Given the description of an element on the screen output the (x, y) to click on. 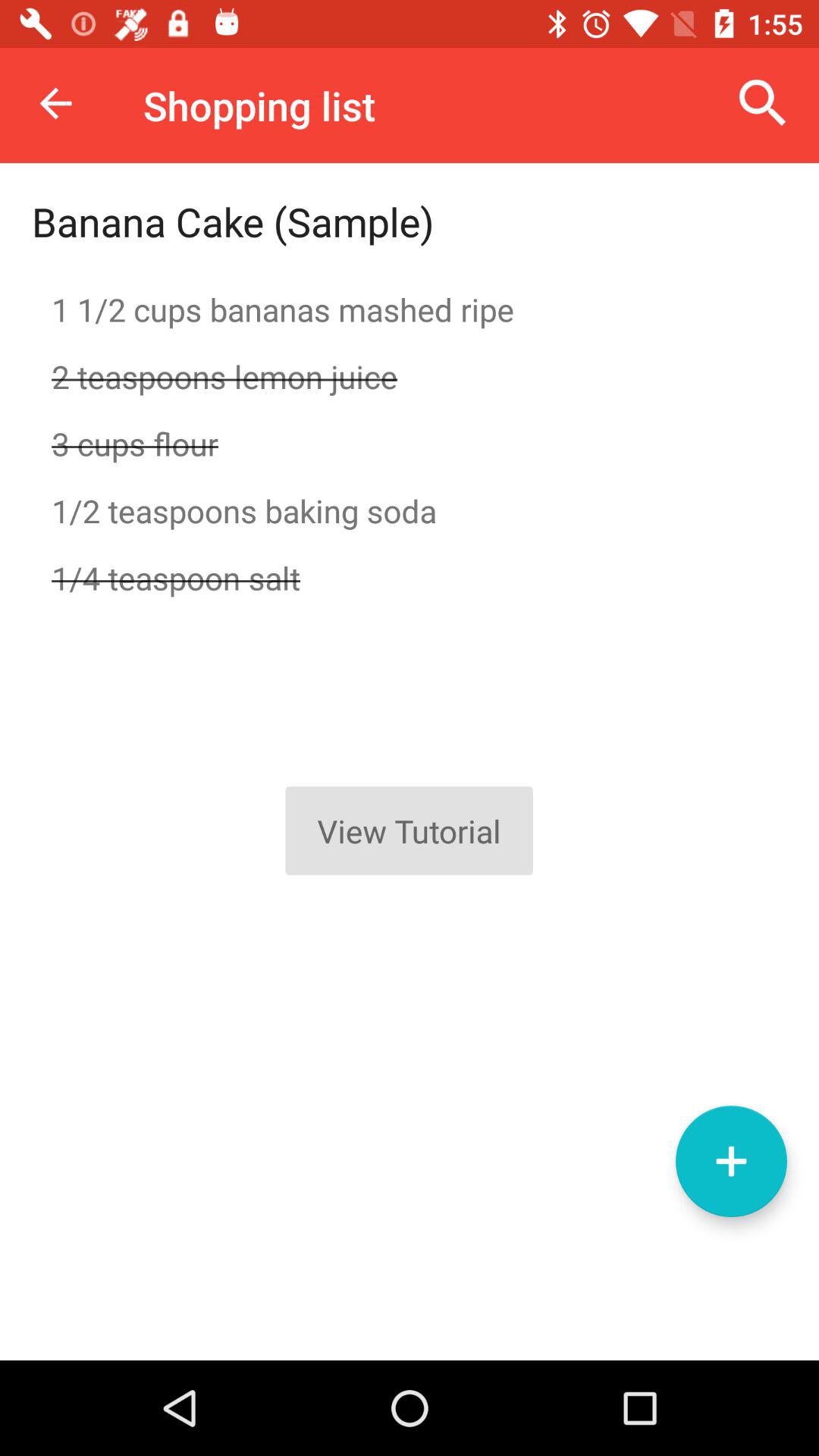
turn off the icon to the left of the shopping list (55, 103)
